Given the description of an element on the screen output the (x, y) to click on. 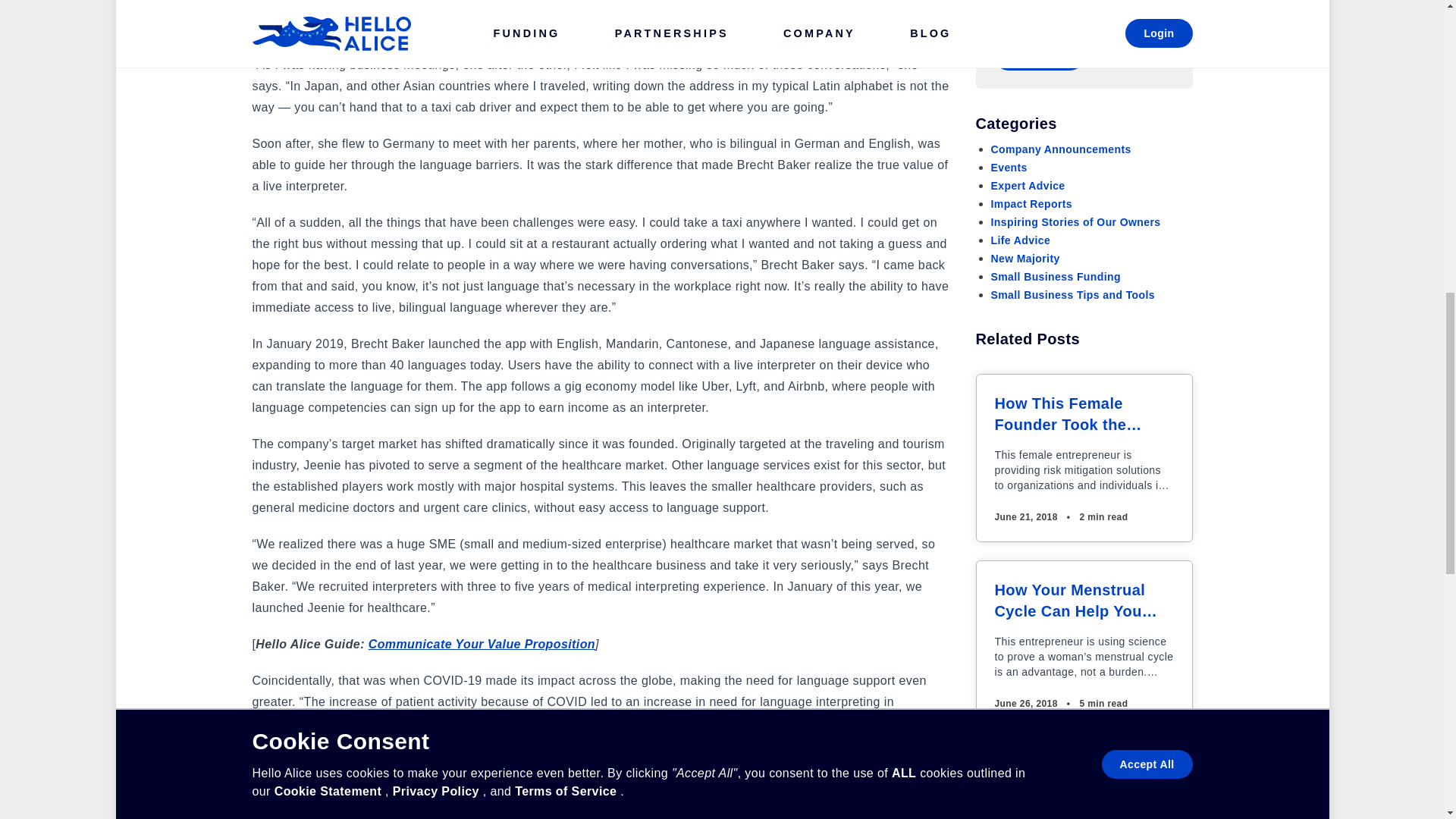
Company Announcements (1060, 149)
Small Business Tips and Tools (1072, 295)
Small Business Funding (1054, 276)
New Majority (1024, 258)
Impact Reports (1030, 203)
Events (1008, 167)
Subscribe (1037, 55)
Inspiring Stories of Our Owners (1075, 222)
Life Advice (1019, 240)
Communicate Your Value Proposition (481, 644)
Expert Advice (1027, 185)
